Given the description of an element on the screen output the (x, y) to click on. 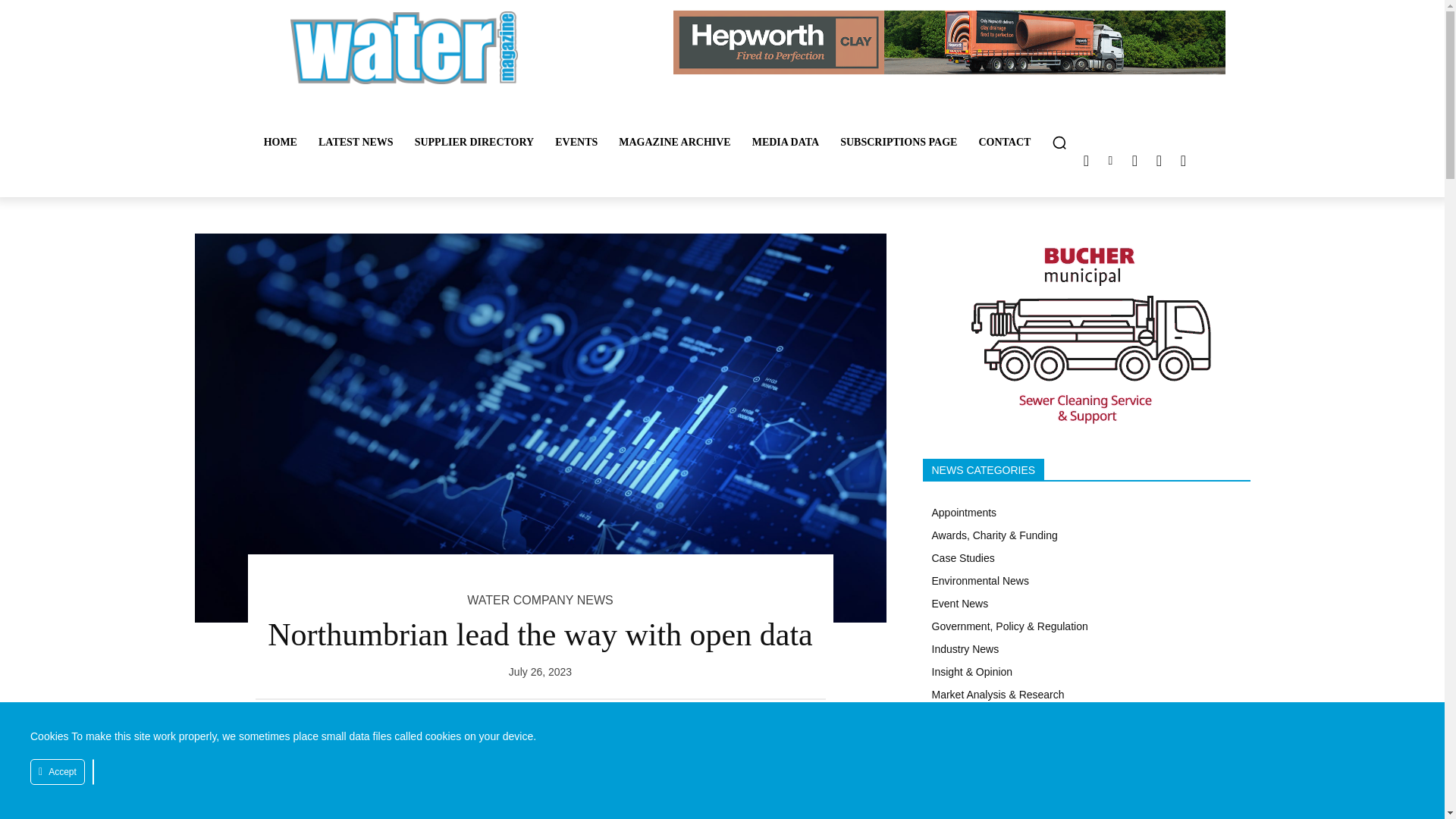
MAGAZINE ARCHIVE (674, 142)
Twitter (1085, 160)
LATEST NEWS (355, 142)
MEDIA DATA (785, 142)
SUPPLIER DIRECTORY (474, 142)
SUBSCRIPTIONS PAGE (898, 142)
Linkedin (1110, 160)
HOME (280, 142)
EVENTS (576, 142)
Facebook (1158, 160)
Instagram (1133, 160)
Youtube (1182, 160)
CONTACT (1004, 142)
